Given the description of an element on the screen output the (x, y) to click on. 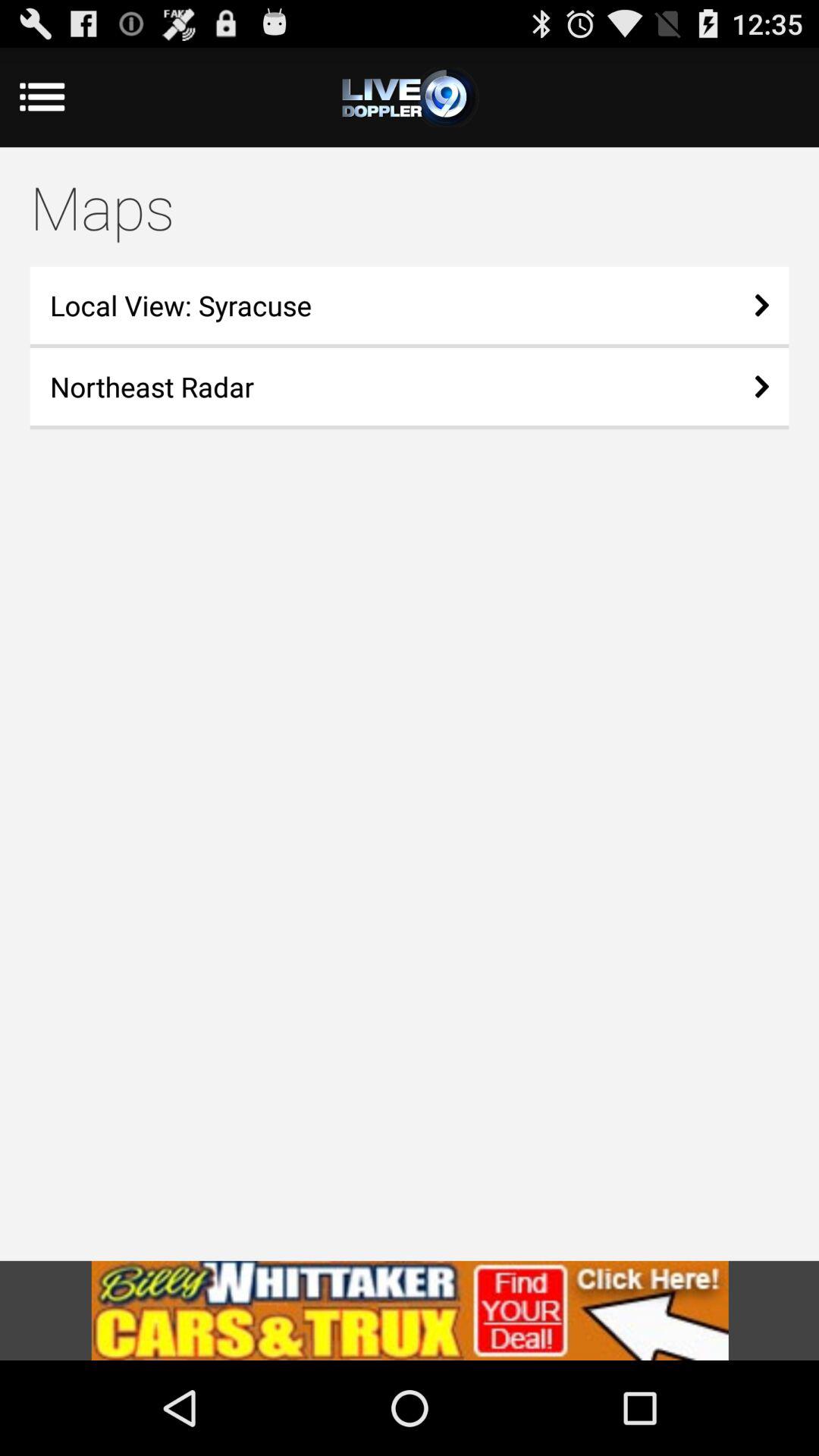
choose the icon above the maps item (61, 97)
